Given the description of an element on the screen output the (x, y) to click on. 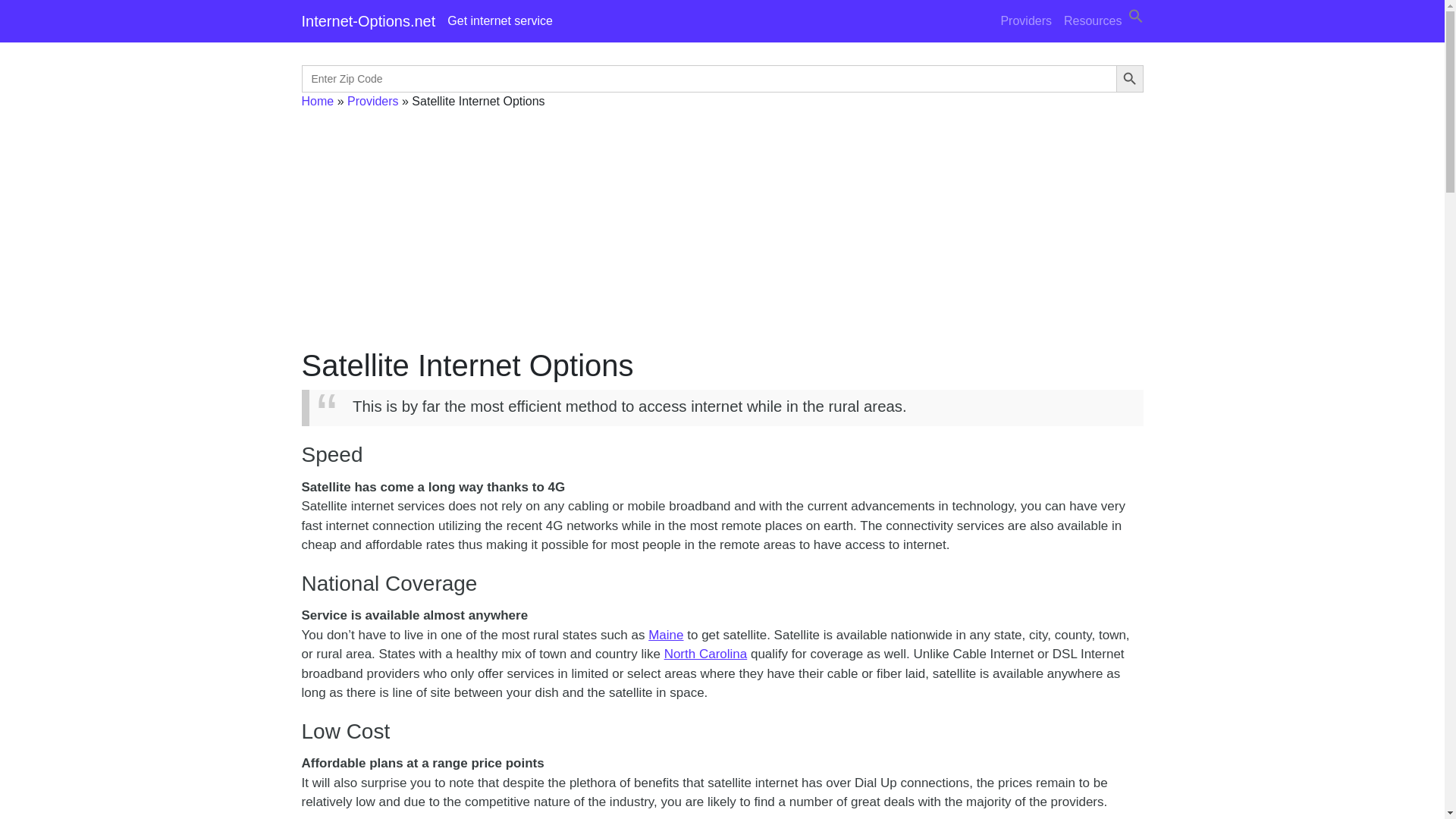
Resources (1092, 20)
Providers (372, 101)
Internet-Options.net (368, 20)
Providers (1026, 20)
North Carolina (705, 653)
Search Button (1129, 78)
Providers (1026, 20)
Maine (664, 635)
Internet-Options.net (368, 20)
Resources (1092, 20)
